Given the description of an element on the screen output the (x, y) to click on. 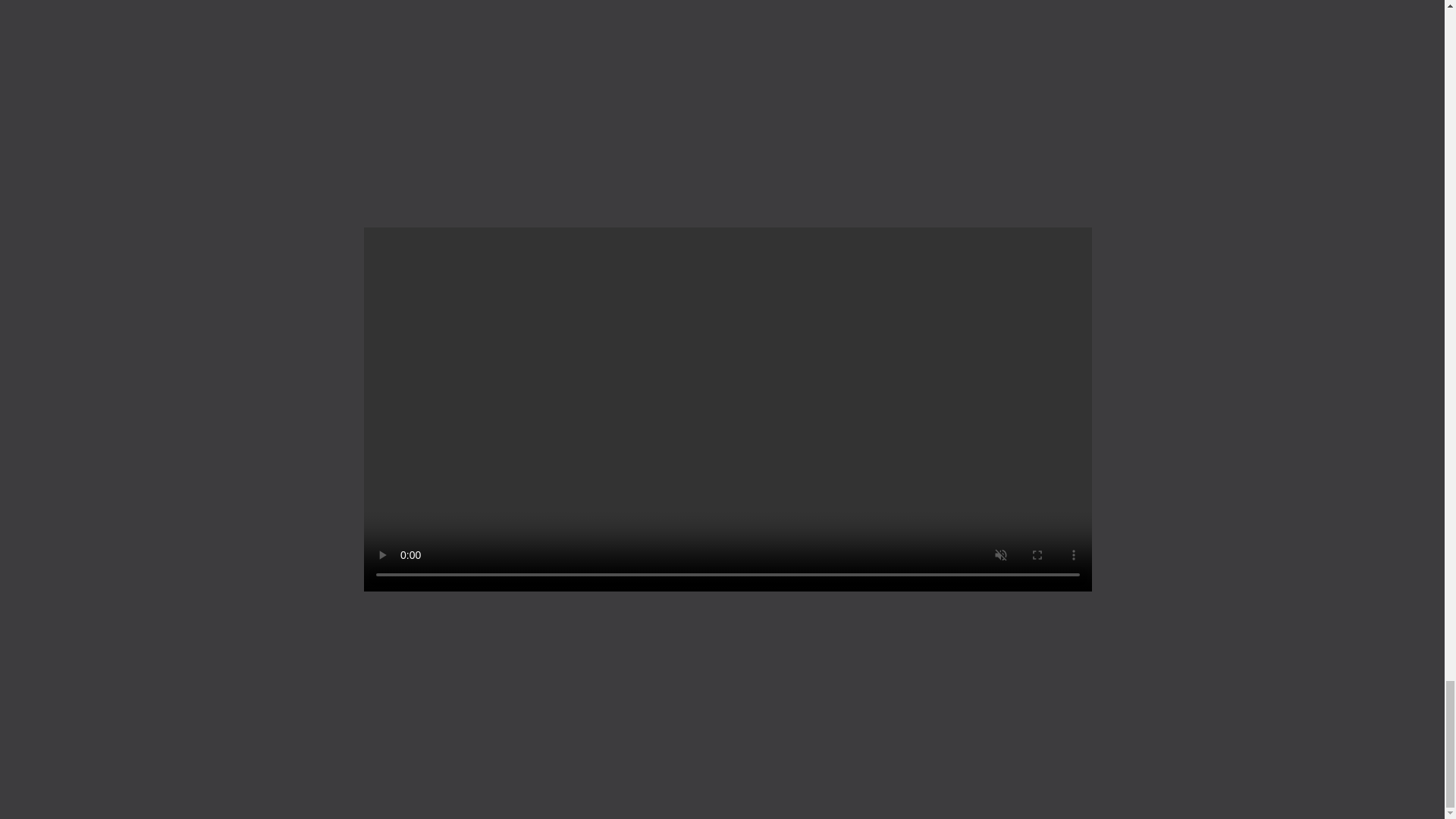
847-352-3070 (888, 643)
PROJECTS (632, 681)
SERVICES (631, 640)
CONTACT (629, 763)
ABOUT (618, 722)
